Given the description of an element on the screen output the (x, y) to click on. 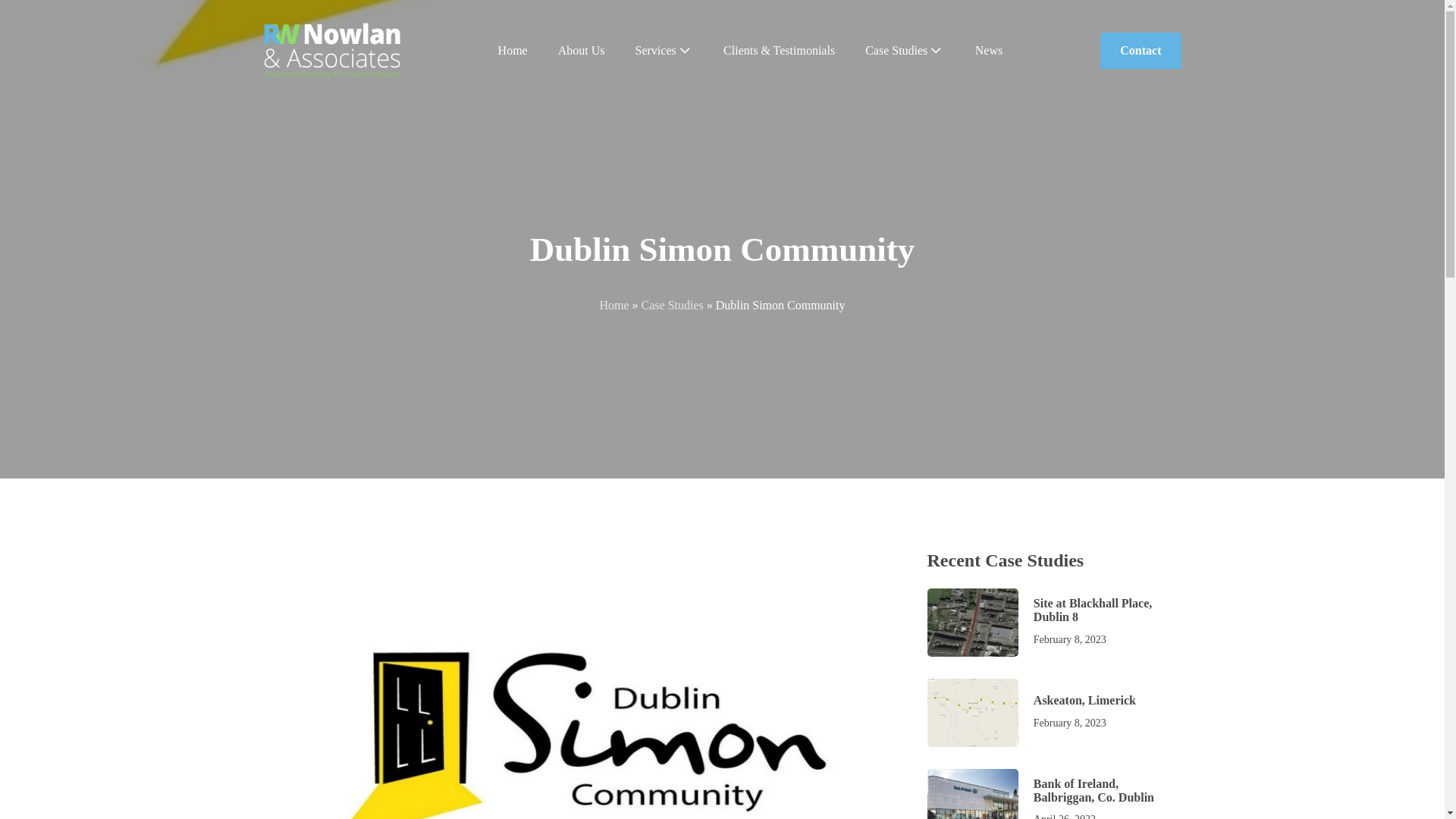
Home (613, 305)
Services (664, 50)
Contact (1053, 790)
Case Studies (1053, 622)
About Us (1140, 50)
Case Studies (672, 305)
